Given the description of an element on the screen output the (x, y) to click on. 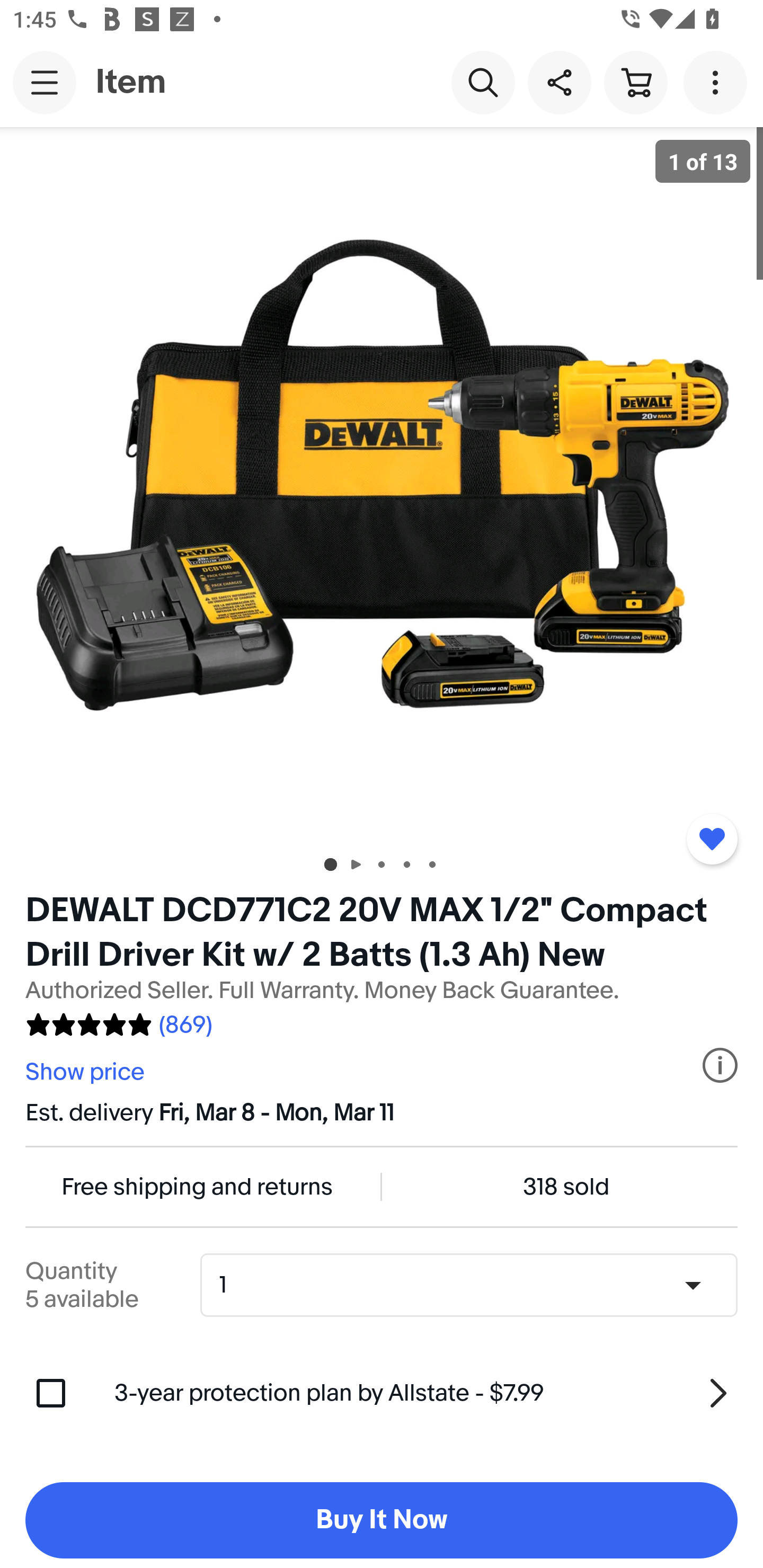
Main navigation, open (44, 82)
Search (482, 81)
Share this item (559, 81)
Cart button shopping cart (635, 81)
More options (718, 81)
Item image 1 of 13 (381, 482)
Added to watchlist (711, 838)
More information (719, 1065)
Show price (87, 1072)
Quantity,1,5 available 1 (474, 1284)
3-year protection plan by Allstate - $7.99 (425, 1392)
Buy It Now (381, 1519)
